Given the description of an element on the screen output the (x, y) to click on. 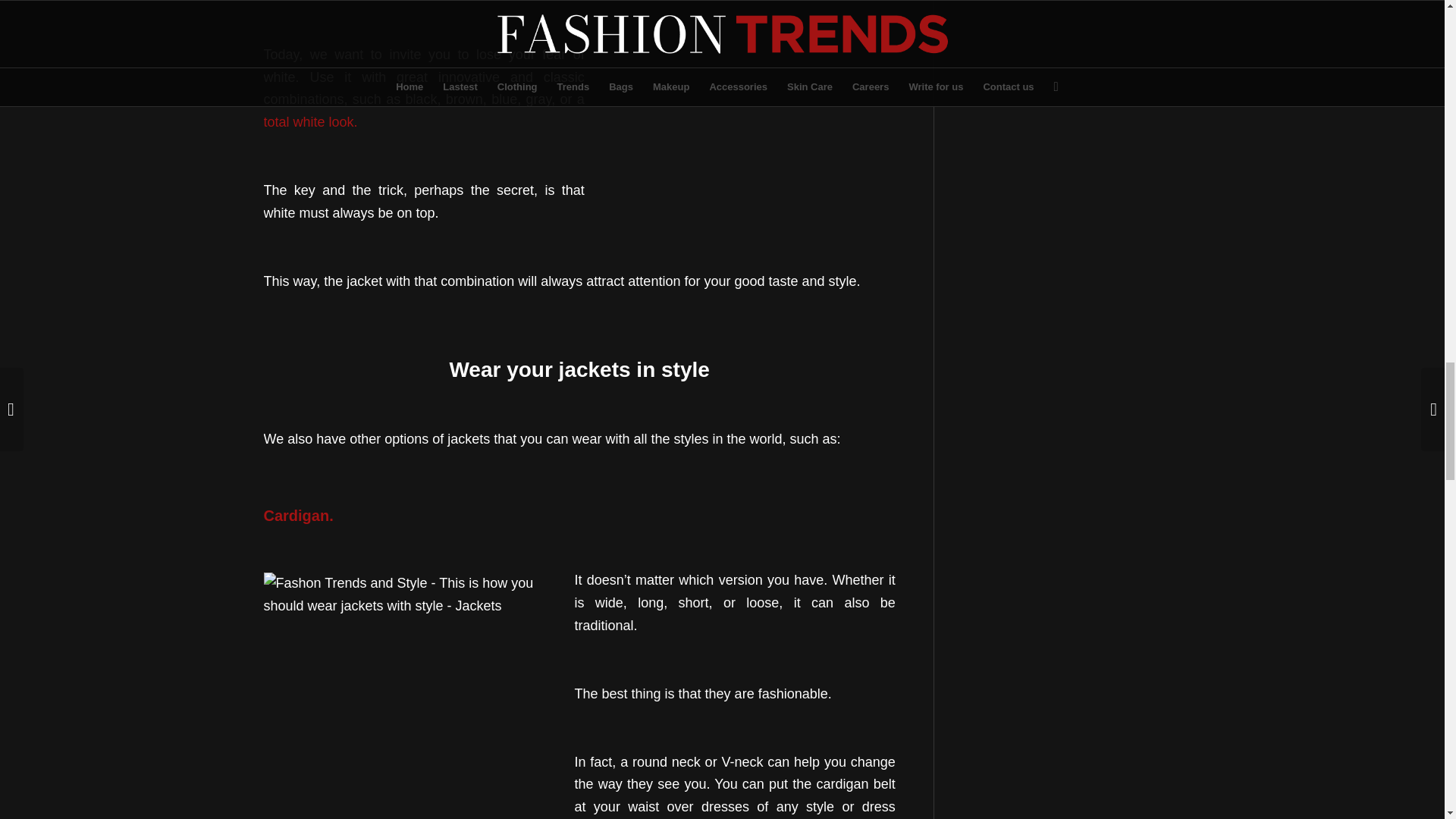
Find out how to achieve a fashionable black and white look (310, 121)
Cardigan. (298, 515)
total white look. (310, 121)
How to combine a cardigan with style? (298, 515)
